Given the description of an element on the screen output the (x, y) to click on. 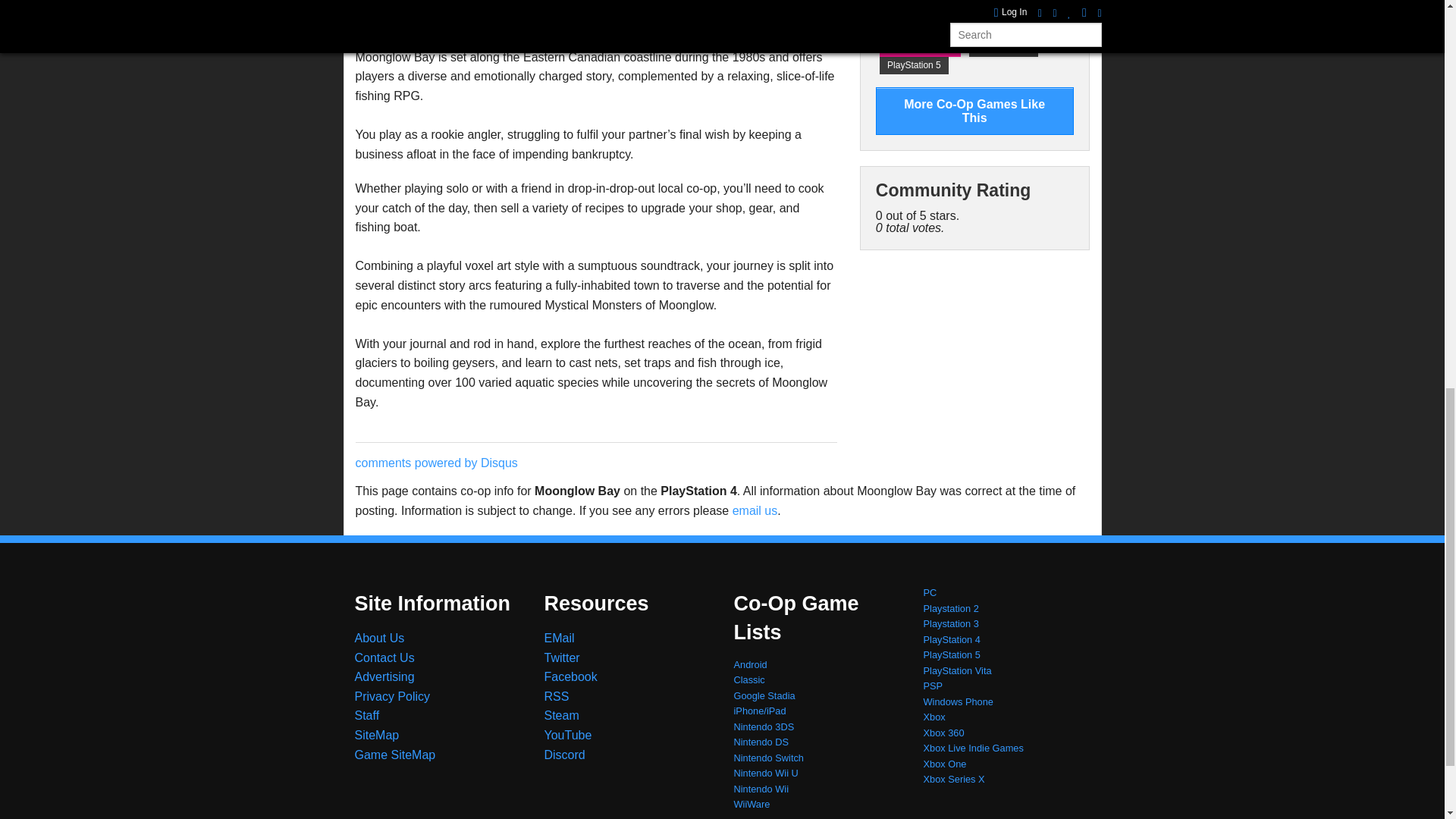
Our current staff and bios. (367, 715)
comments powered by Disqus (435, 462)
Advertising rates and traffic numbers. (384, 676)
Join our Steam Group! (561, 715)
PC (901, 29)
